Given the description of an element on the screen output the (x, y) to click on. 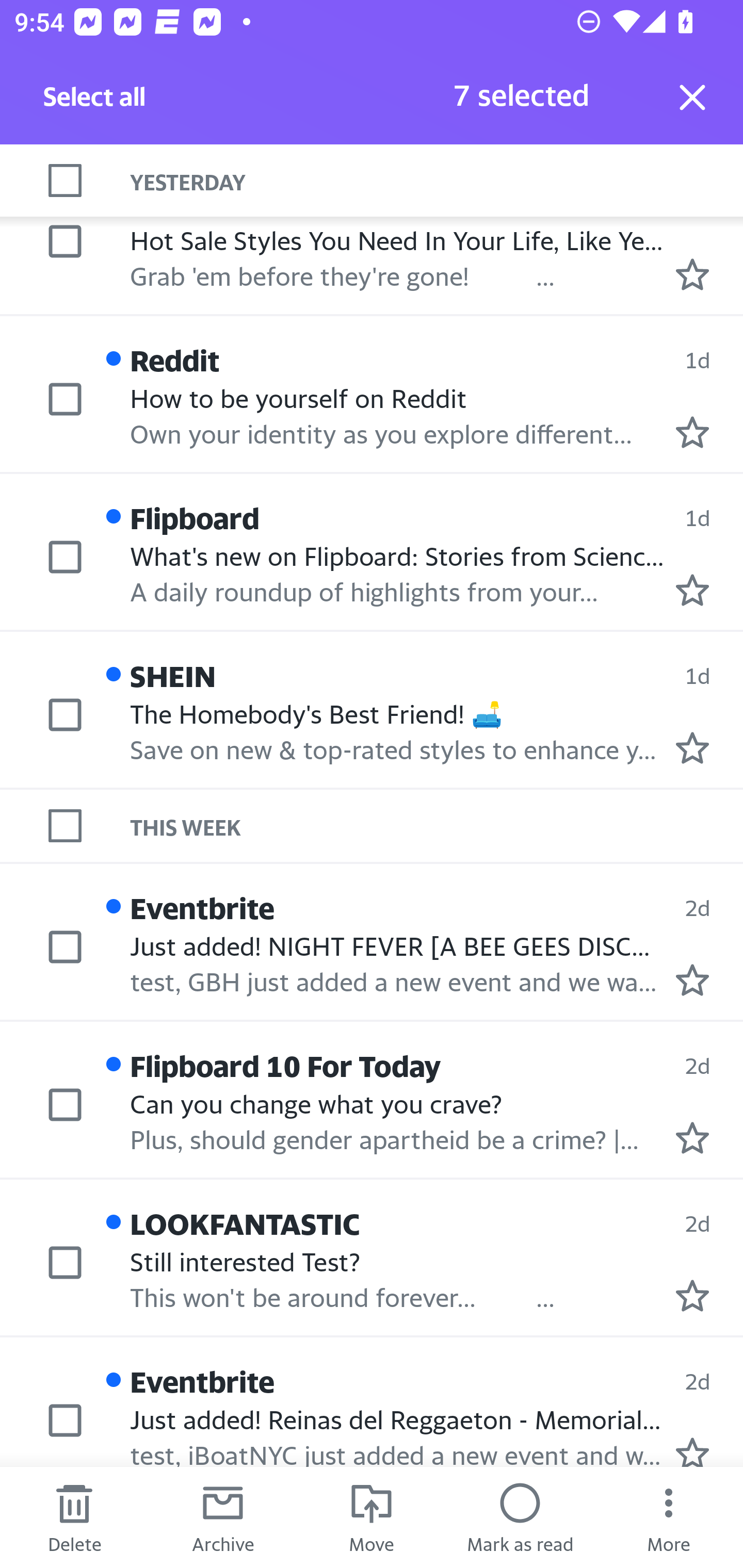
Exit selection mode (692, 97)
Select all (94, 101)
Mark as starred. (692, 274)
Mark as starred. (692, 431)
Mark as starred. (692, 590)
Mark as starred. (692, 747)
THIS WEEK (436, 825)
Mark as starred. (692, 979)
Mark as starred. (692, 1137)
Mark as starred. (692, 1295)
Mark as starred. (692, 1450)
Delete (74, 1517)
Archive (222, 1517)
Move (371, 1517)
Mark as read (519, 1517)
More (668, 1517)
